Given the description of an element on the screen output the (x, y) to click on. 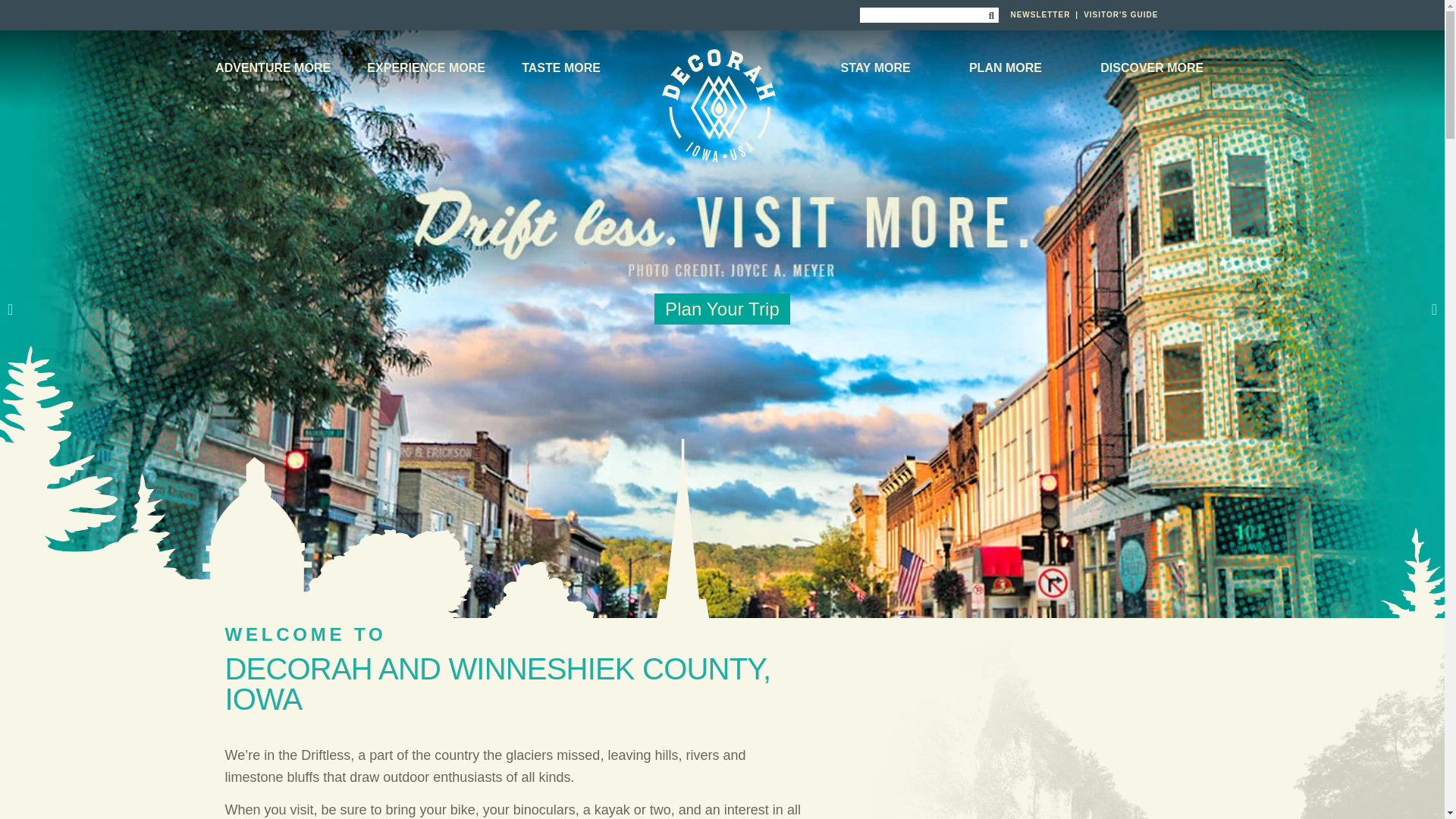
NEWSLETTER (1040, 14)
ADVENTURE MORE (277, 67)
VISITOR'S GUIDE (1120, 14)
EXPERIENCE MORE (426, 67)
STAY MORE (878, 67)
TASTE MORE (560, 67)
